Given the description of an element on the screen output the (x, y) to click on. 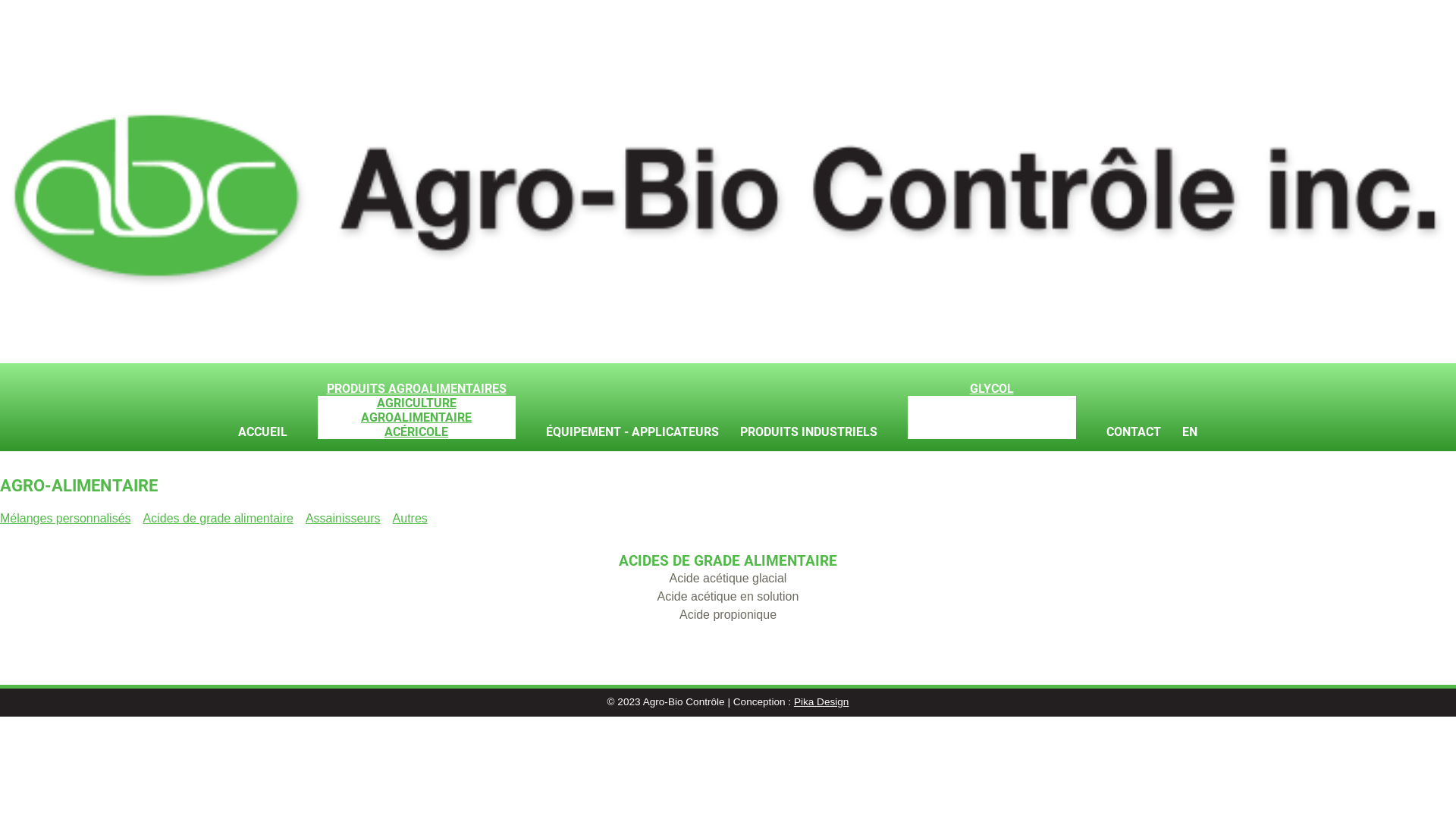
EN Element type: text (1188, 431)
CONTACT Element type: text (1132, 431)
GLYCOL Element type: text (991, 388)
PRODUITS AGROALIMENTAIRES Element type: text (415, 388)
Acides de grade alimentaire Element type: text (218, 517)
PRODUITS INDUSTRIELS Element type: text (808, 431)
Autres Element type: text (409, 517)
Assainisseurs Element type: text (342, 517)
LIQUIDE CALOPORTEUR 50 Element type: text (991, 417)
Pika Design Element type: text (821, 701)
LIQUIDE CALOPORTEUR 96 Element type: text (991, 431)
AGROALIMENTAIRE Element type: text (415, 417)
ACCUEIL Element type: text (262, 431)
AGRICULTURE Element type: text (415, 402)
